Given the description of an element on the screen output the (x, y) to click on. 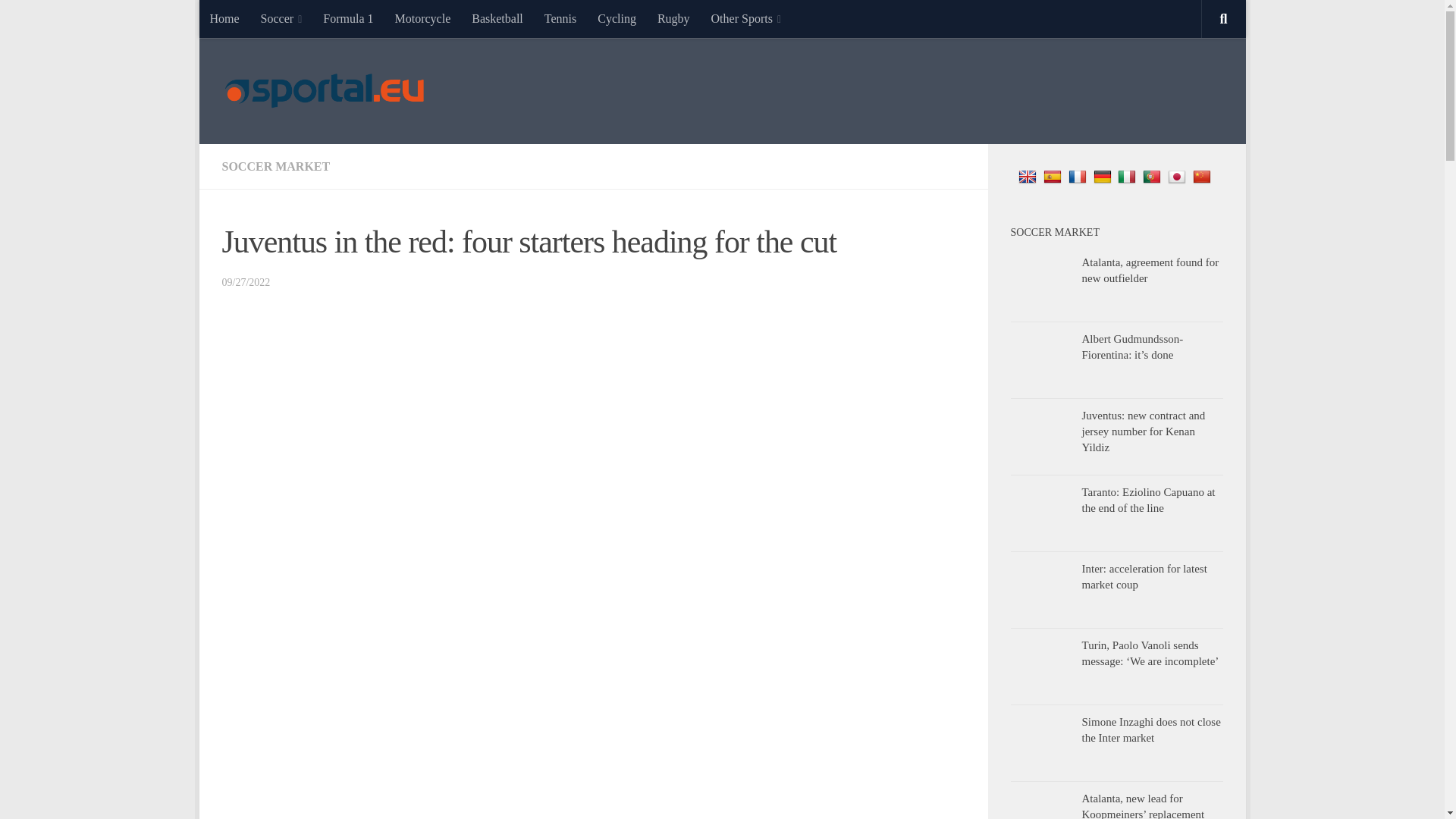
Cycling (616, 18)
Basketball (497, 18)
Rugby (673, 18)
Formula 1 (348, 18)
Skip to content (258, 20)
Soccer (281, 18)
Other Sports (746, 18)
Home (223, 18)
Motorcycle (422, 18)
SOCCER MARKET (275, 165)
